Given the description of an element on the screen output the (x, y) to click on. 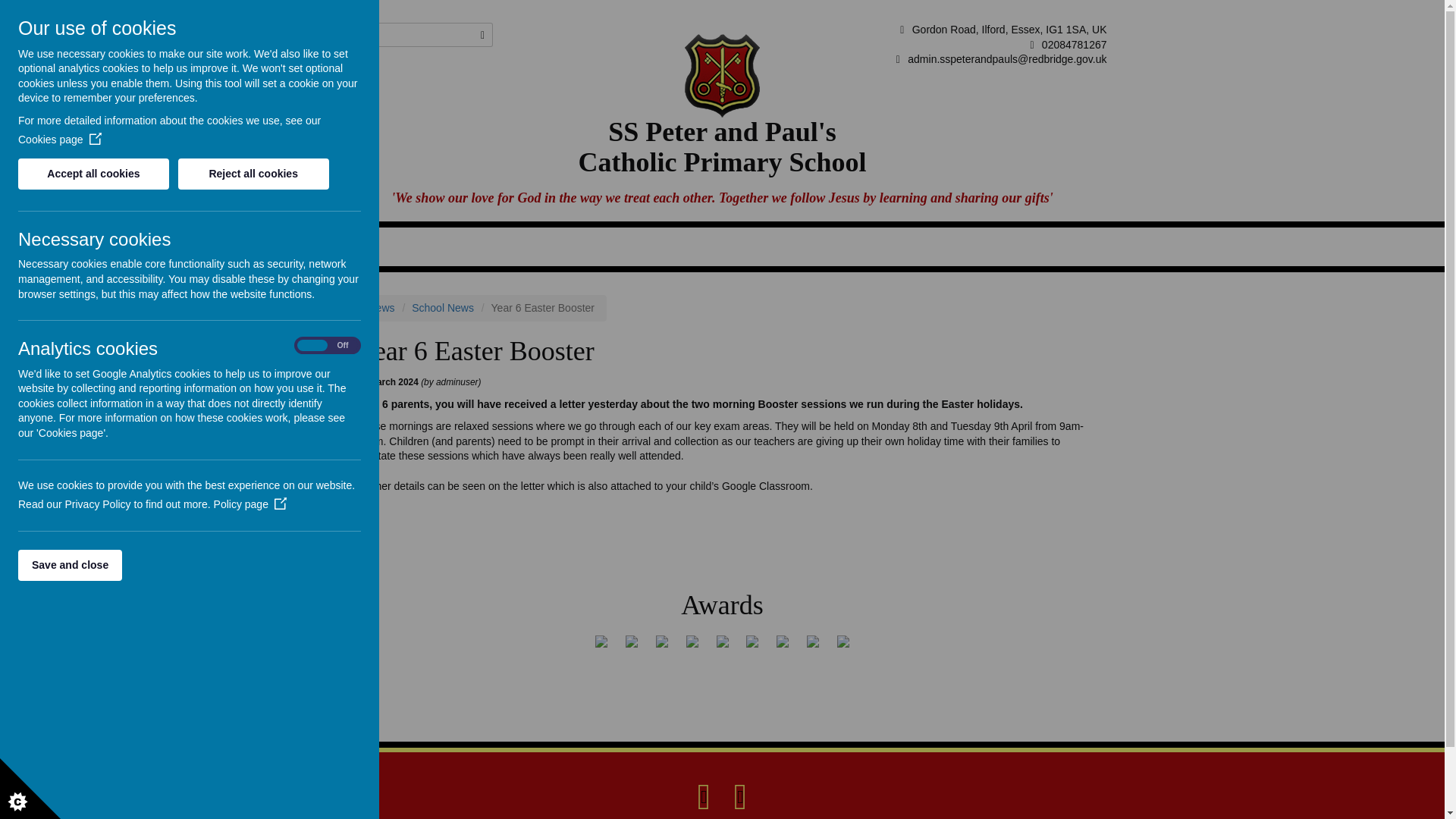
Cookie Control Icon (30, 788)
Twitter (740, 795)
Facebook (703, 795)
on (327, 345)
